Given the description of an element on the screen output the (x, y) to click on. 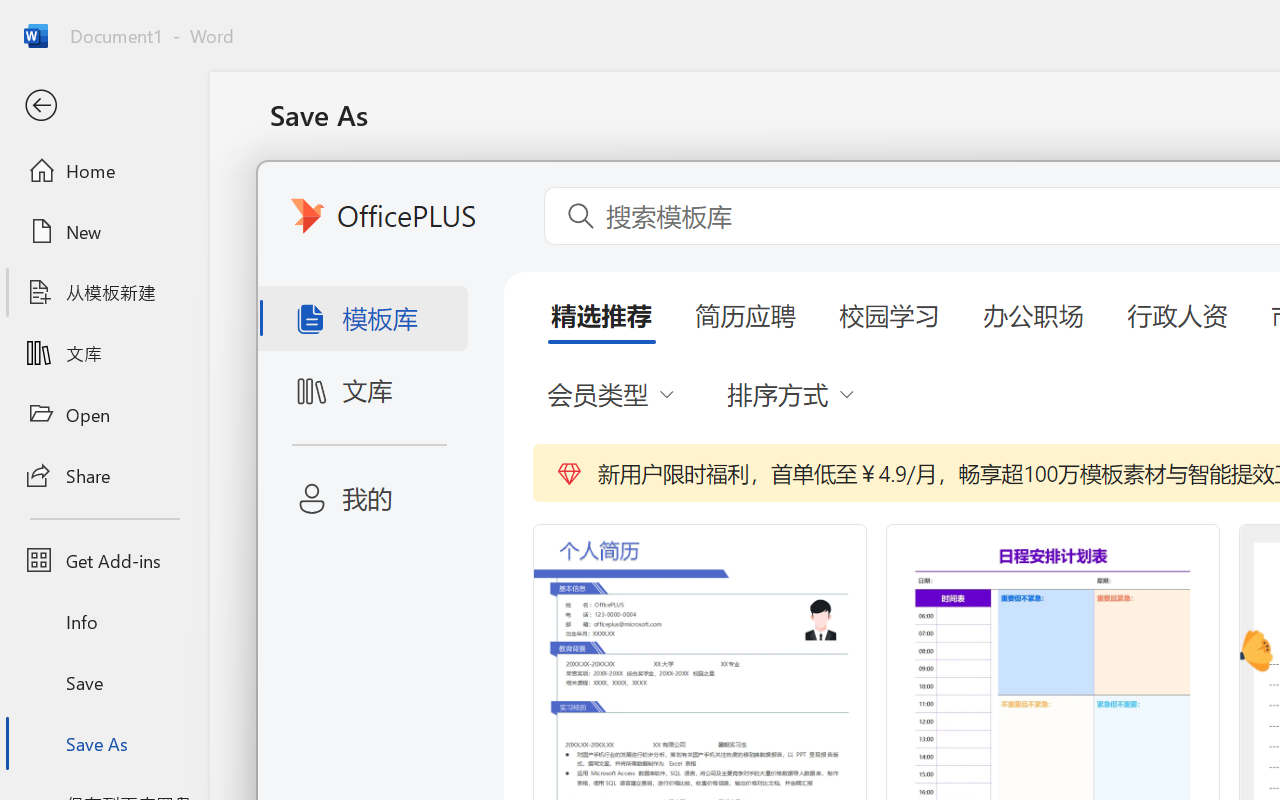
Info (104, 621)
Save As (104, 743)
